Given the description of an element on the screen output the (x, y) to click on. 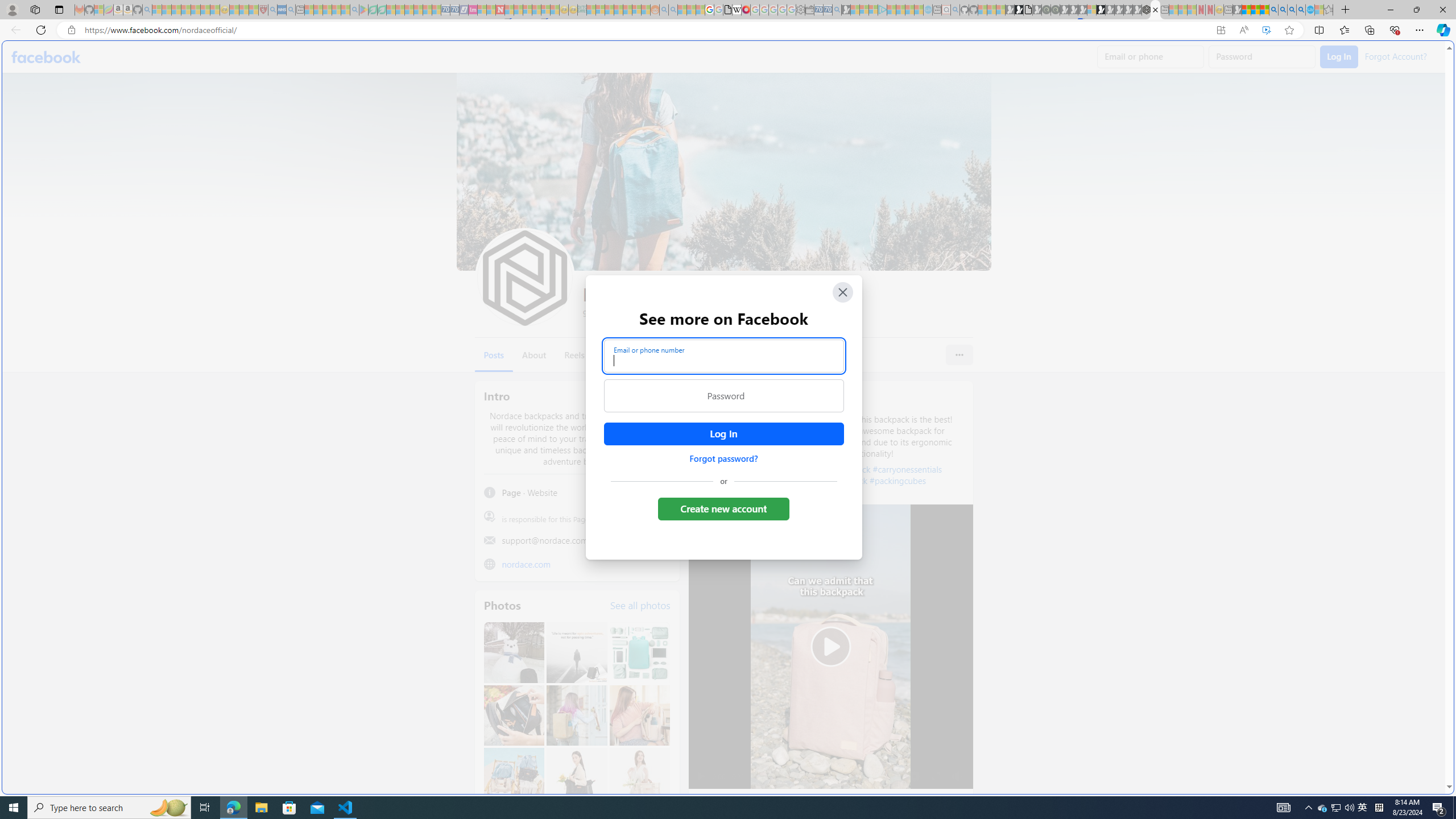
14 Common Myths Debunked By Scientific Facts - Sleeping (518, 9)
MSN - Sleeping (1236, 9)
2009 Bing officially replaced Live Search on June 3 - Search (1283, 9)
The Weather Channel - MSN - Sleeping (175, 9)
MediaWiki (745, 9)
Search or enter web address (922, 108)
